Given the description of an element on the screen output the (x, y) to click on. 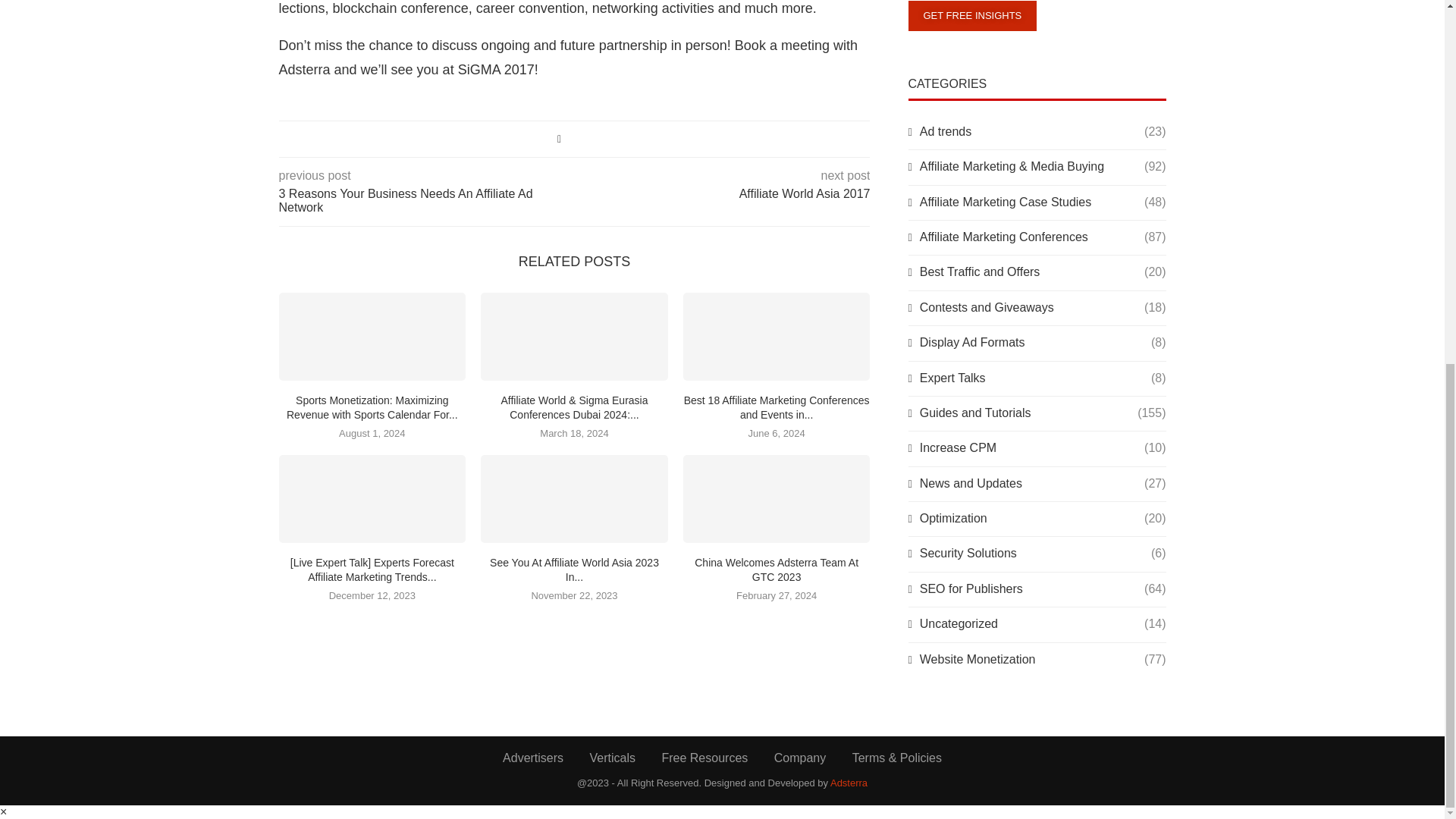
Best 18 Affiliate Marketing Conferences and Events in 2024 (776, 336)
China Welcomes Adsterra Team At GTC 2023 (776, 498)
See You At Affiliate World Asia 2023 In Thailand (574, 498)
